Given the description of an element on the screen output the (x, y) to click on. 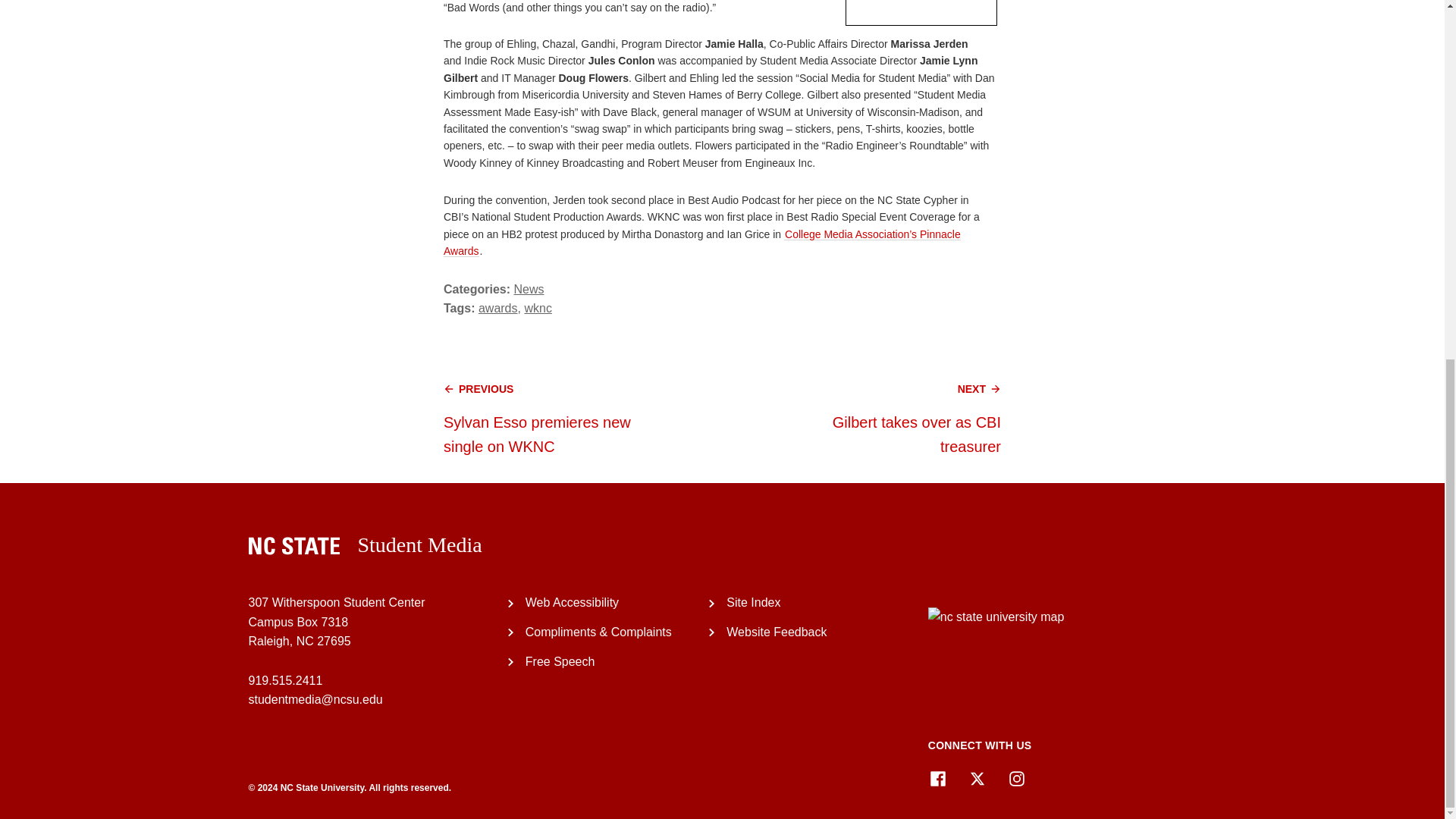
Facebook (937, 778)
X (977, 778)
Instagram (1016, 778)
